Given the description of an element on the screen output the (x, y) to click on. 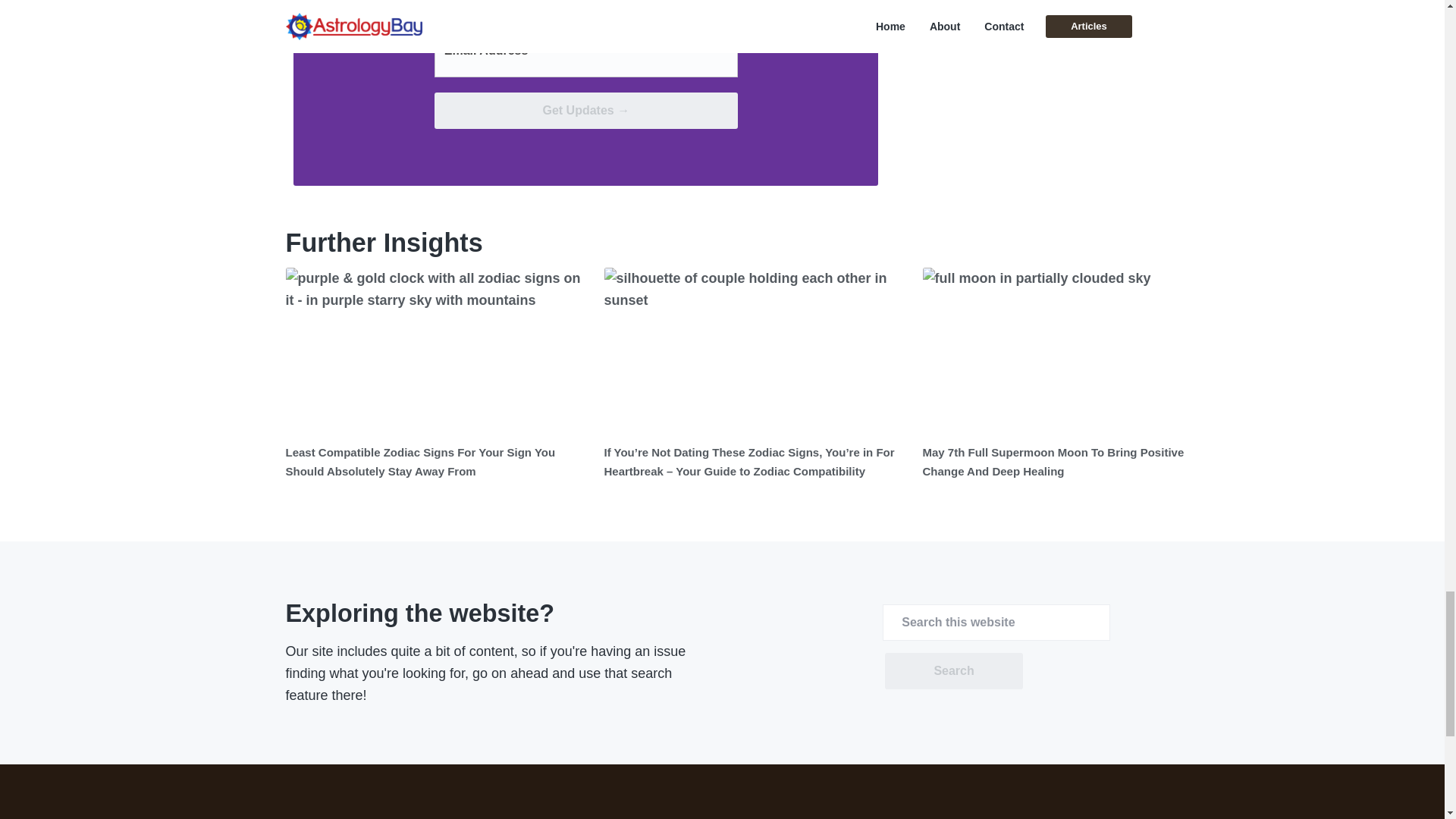
Search (953, 670)
Search (953, 670)
